Given the description of an element on the screen output the (x, y) to click on. 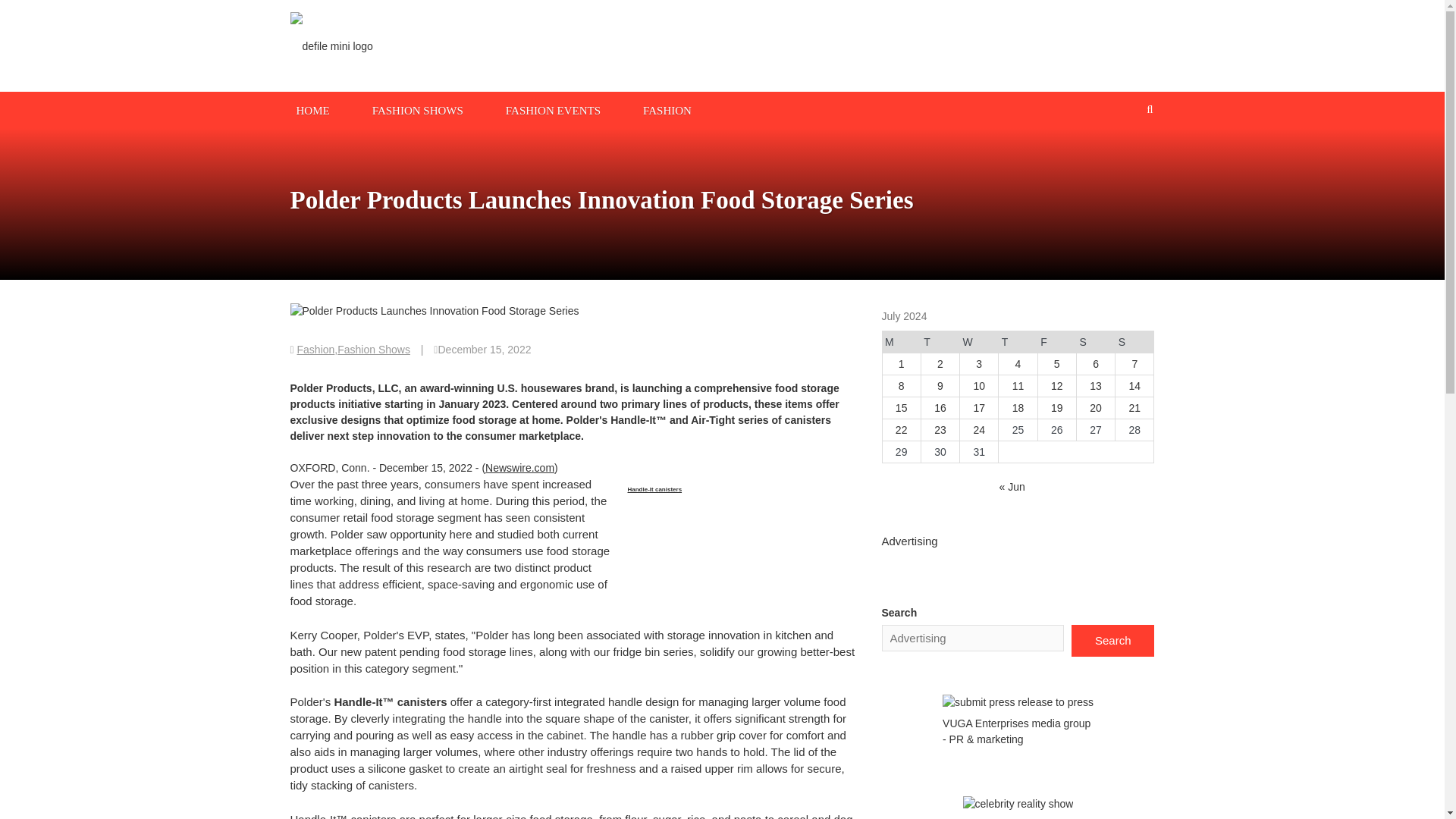
Wednesday (978, 341)
HOME (311, 109)
FASHION SHOWS (417, 109)
12 (1056, 386)
Handle-It canisters (654, 495)
16 (940, 408)
13 (1095, 386)
2 (940, 363)
8 (901, 386)
5 (1056, 363)
Sunday (1134, 341)
6 (1096, 363)
Tuesday (939, 341)
1 (901, 363)
10 (978, 386)
